Given the description of an element on the screen output the (x, y) to click on. 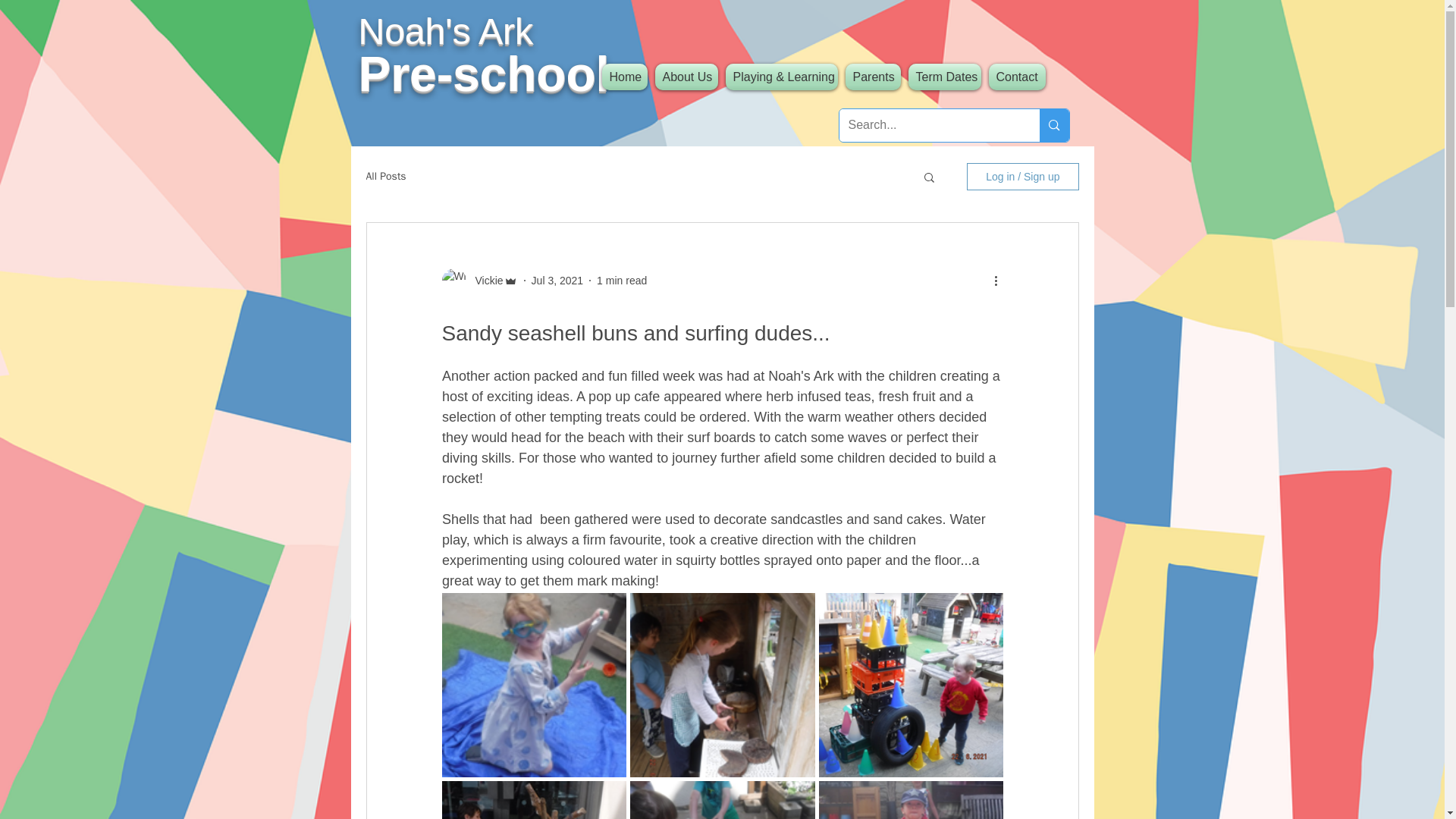
Parents (872, 76)
1 min read (621, 280)
Pre-school (483, 73)
Jul 3, 2021 (557, 280)
Term Dates (944, 76)
Vickie (483, 280)
Home (626, 76)
Noah's Ark (445, 31)
All Posts (385, 176)
About Us (685, 76)
